Given the description of an element on the screen output the (x, y) to click on. 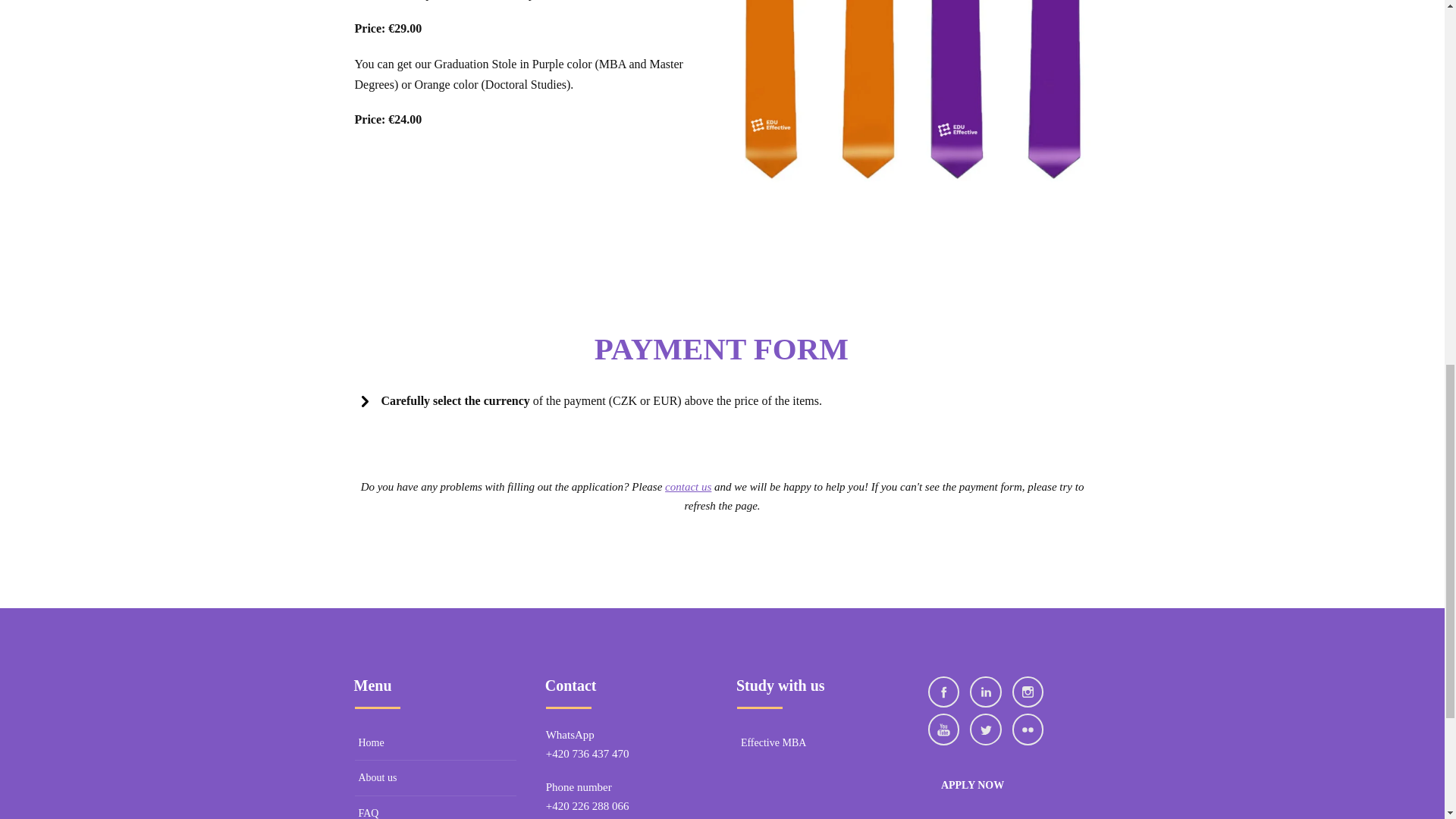
Effective MBA (817, 742)
Home (435, 742)
contact us (688, 486)
FAQ (435, 807)
ORDER NOW (722, 275)
About us (435, 777)
